Given the description of an element on the screen output the (x, y) to click on. 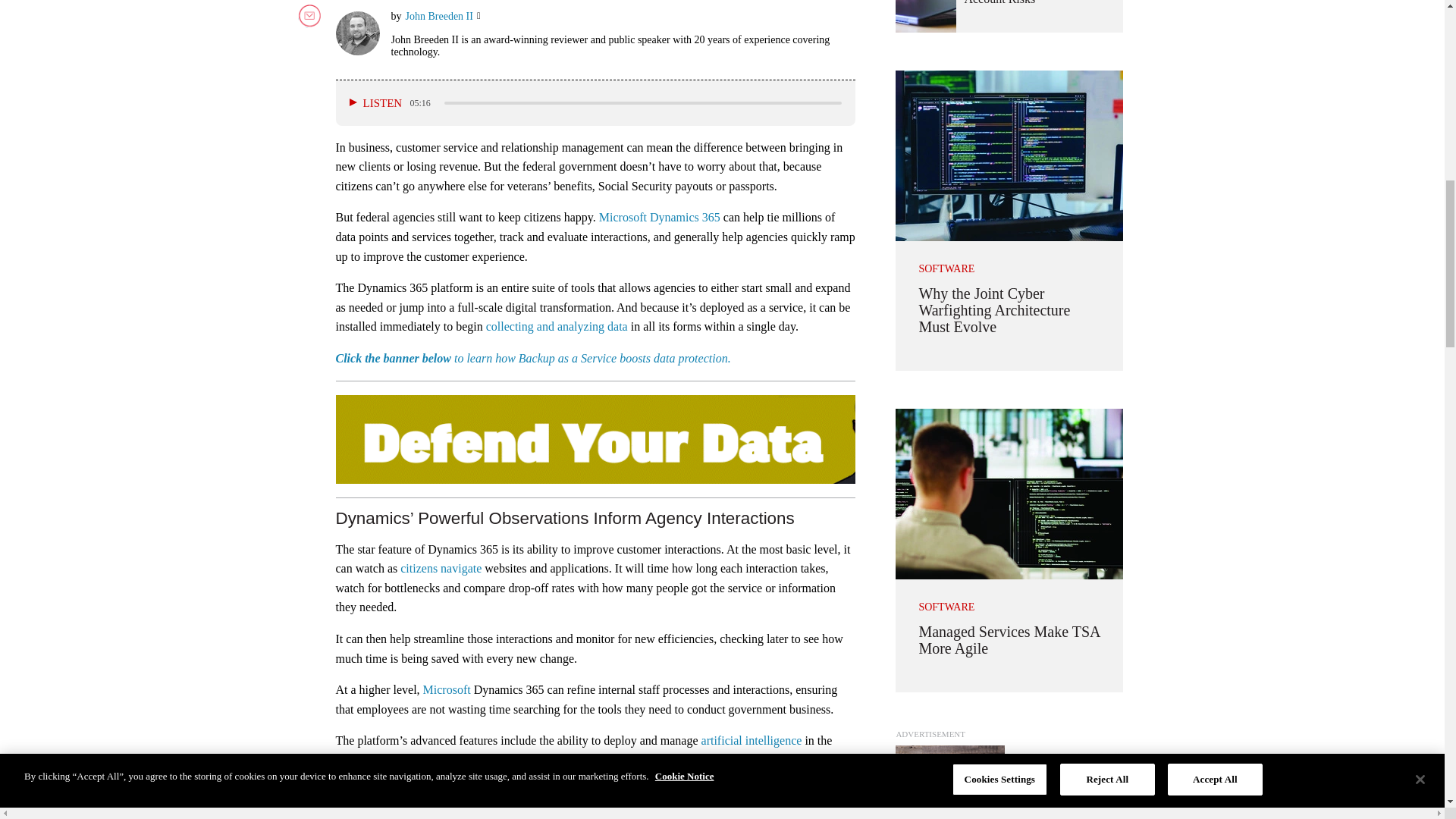
advertisement (1008, 782)
